Given the description of an element on the screen output the (x, y) to click on. 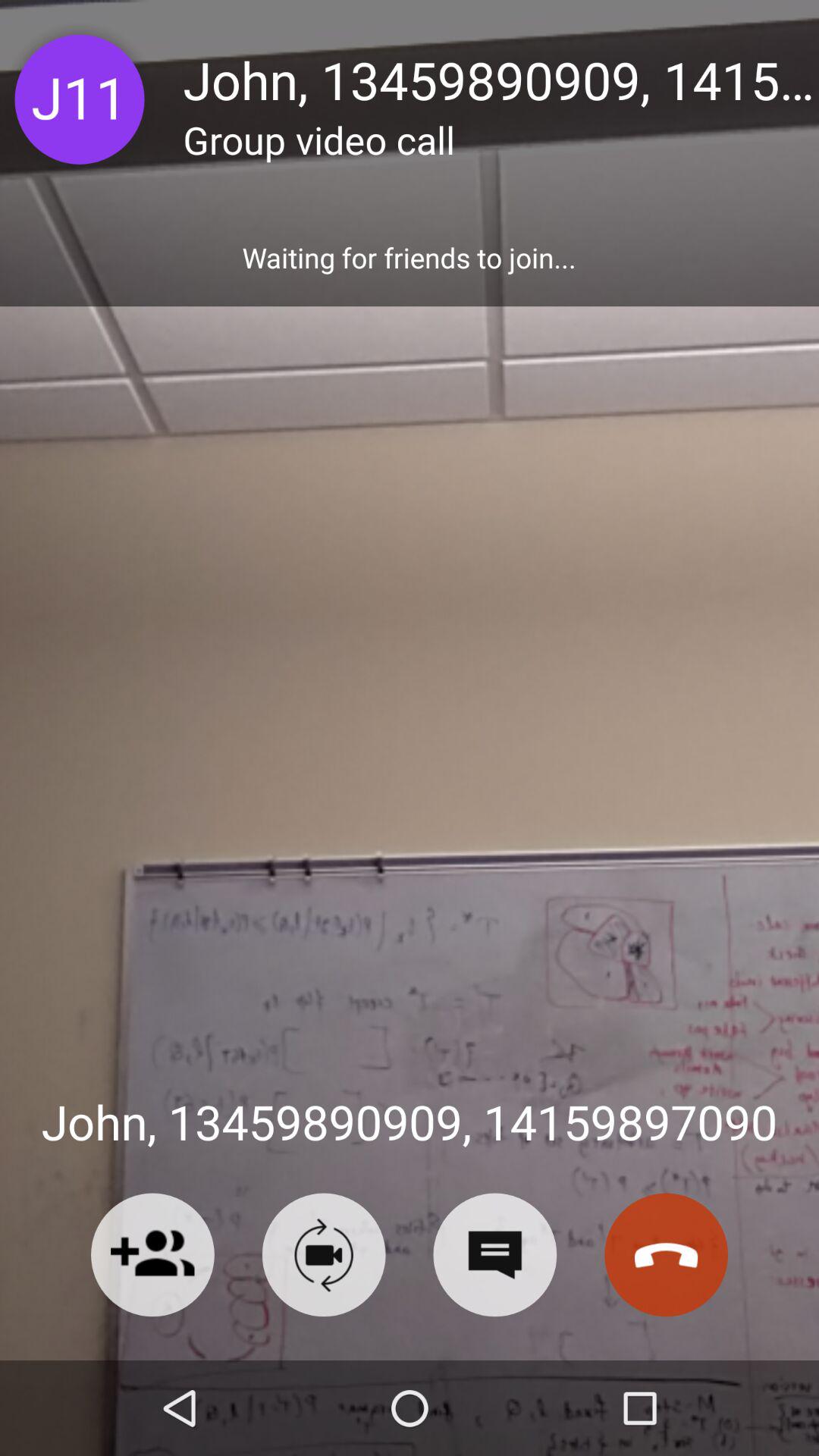
video call (323, 1254)
